Given the description of an element on the screen output the (x, y) to click on. 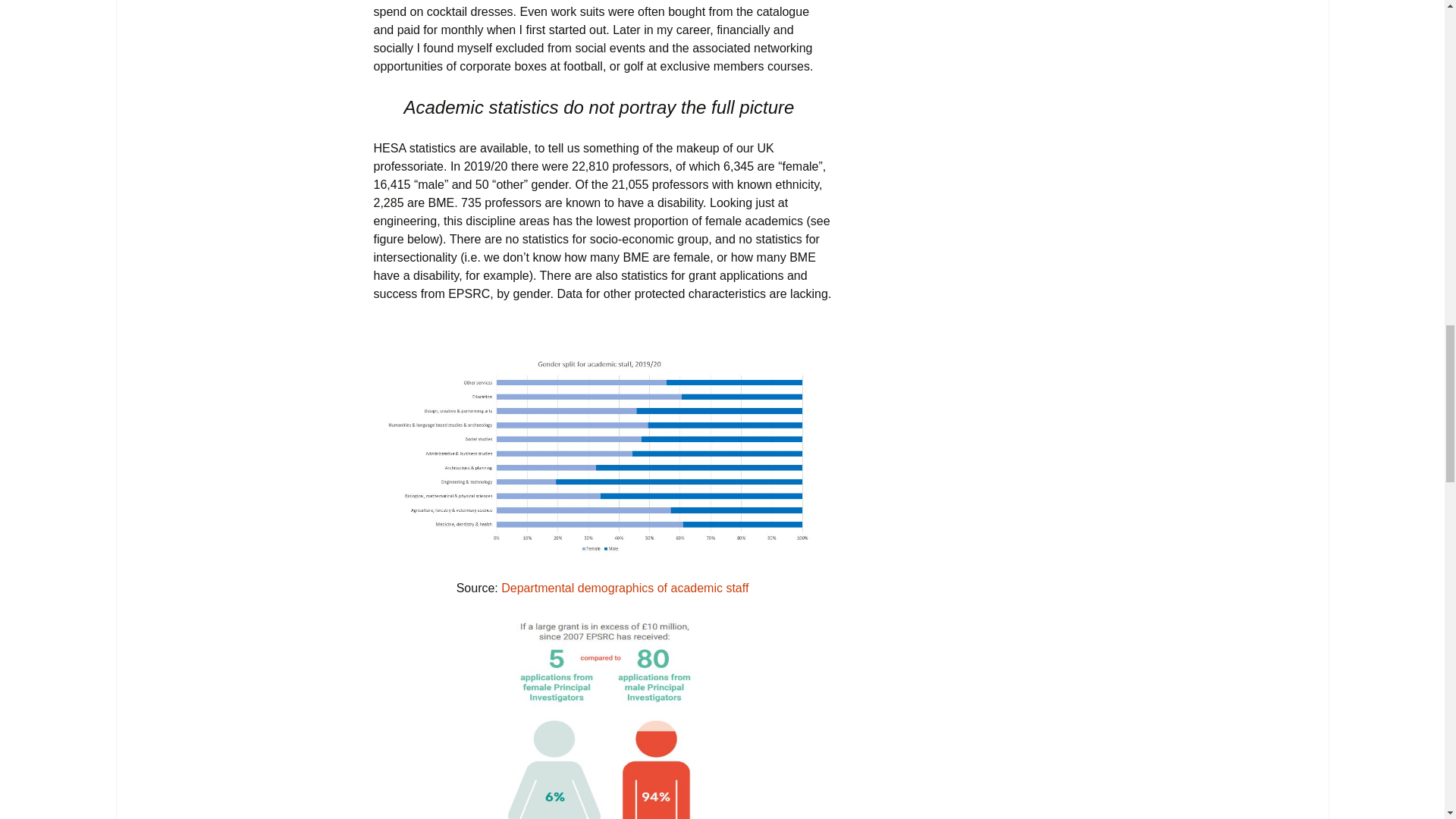
Departmental demographics of academic staff (624, 587)
